Given the description of an element on the screen output the (x, y) to click on. 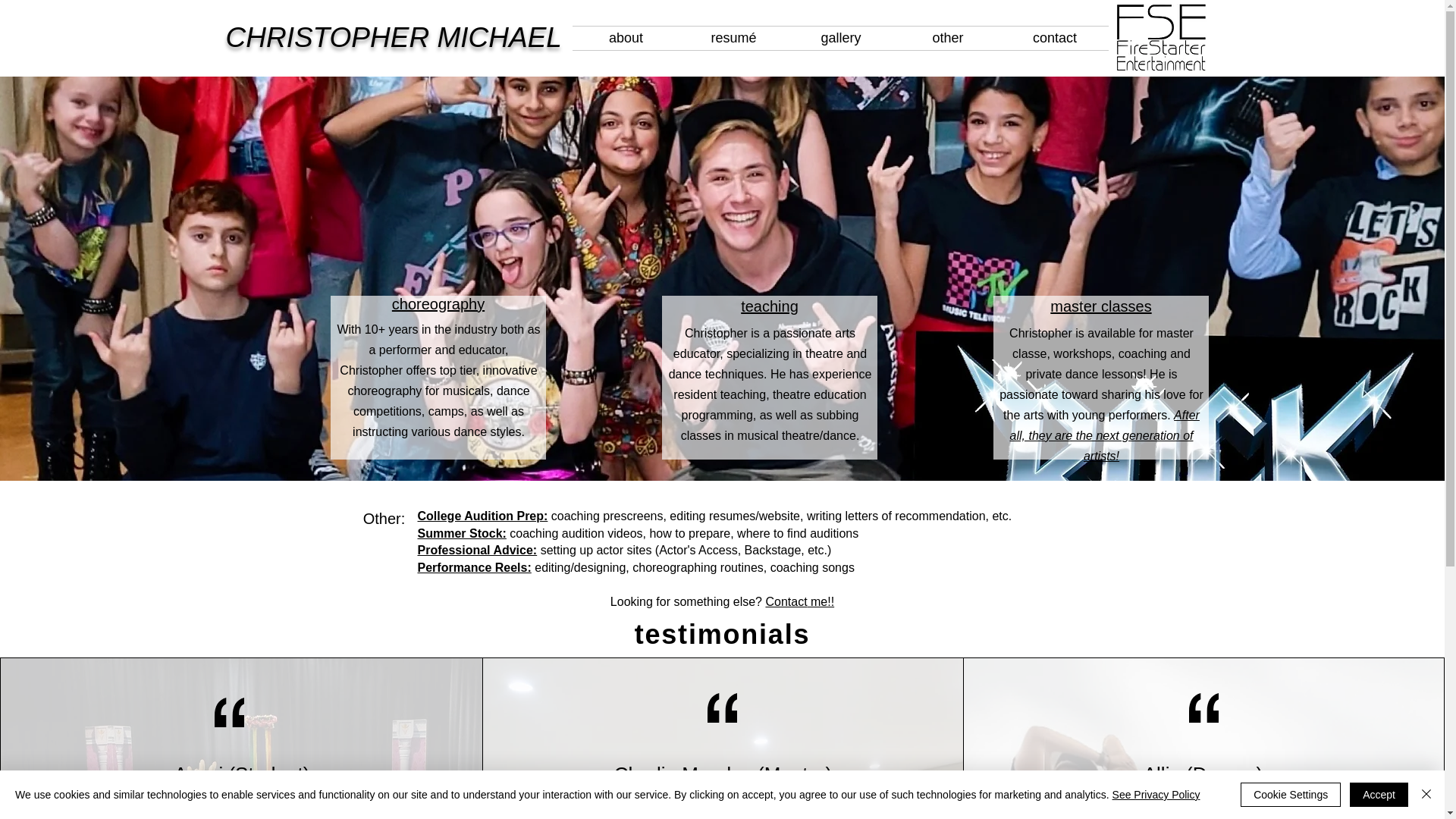
CHRISTOPHER MICHAEL  (397, 37)
Contact me!! (799, 600)
contact (1054, 37)
Accept (1378, 794)
about (625, 37)
See Privacy Policy (1155, 794)
Cookie Settings (1290, 794)
